Given the description of an element on the screen output the (x, y) to click on. 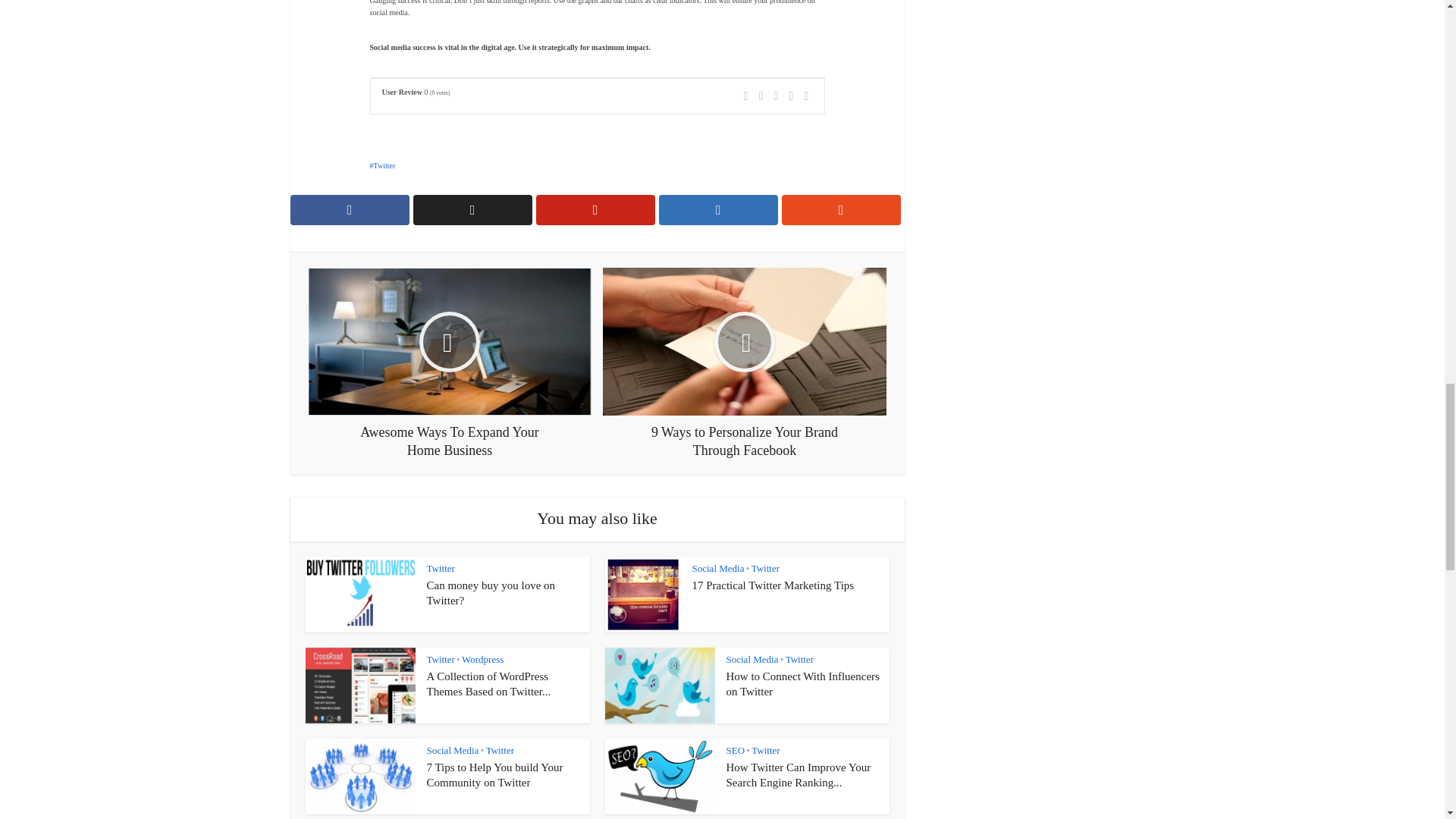
How to Connect With Influencers on Twitter (802, 683)
7 Tips to Help You build Your Community on Twitter (494, 774)
A Collection of WordPress Themes Based on Twitter Bootstrap (488, 683)
Can money buy you love on Twitter? (490, 592)
17 Practical Twitter Marketing Tips (772, 585)
